Given the description of an element on the screen output the (x, y) to click on. 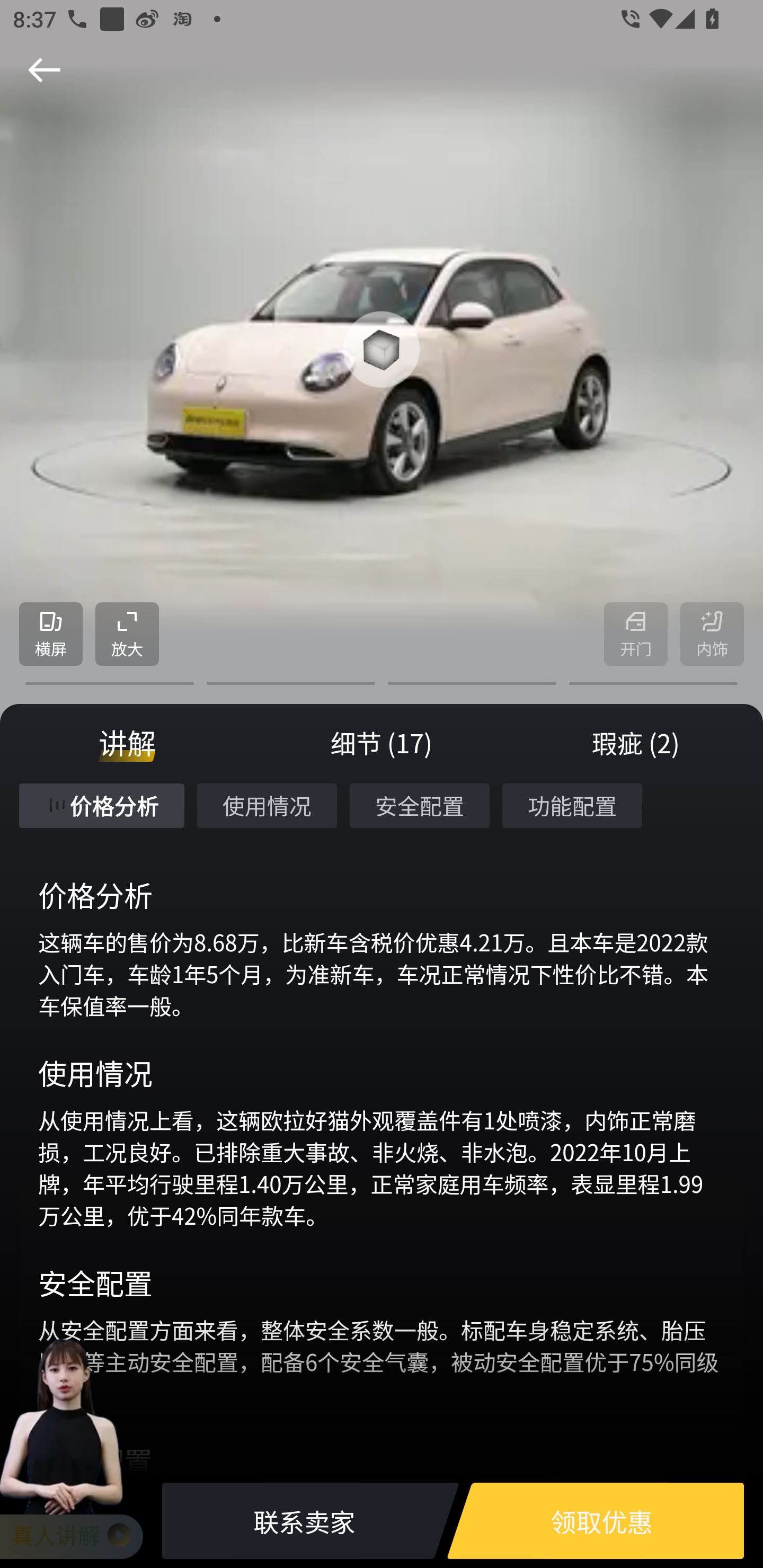
横屏 (50, 634)
放大 (126, 634)
开门 (635, 634)
内饰 (711, 634)
讲解 (127, 743)
细节 (17) (381, 743)
瑕疵 (2) (635, 743)
联系卖家 (303, 1520)
领取优惠 (601, 1520)
